Given the description of an element on the screen output the (x, y) to click on. 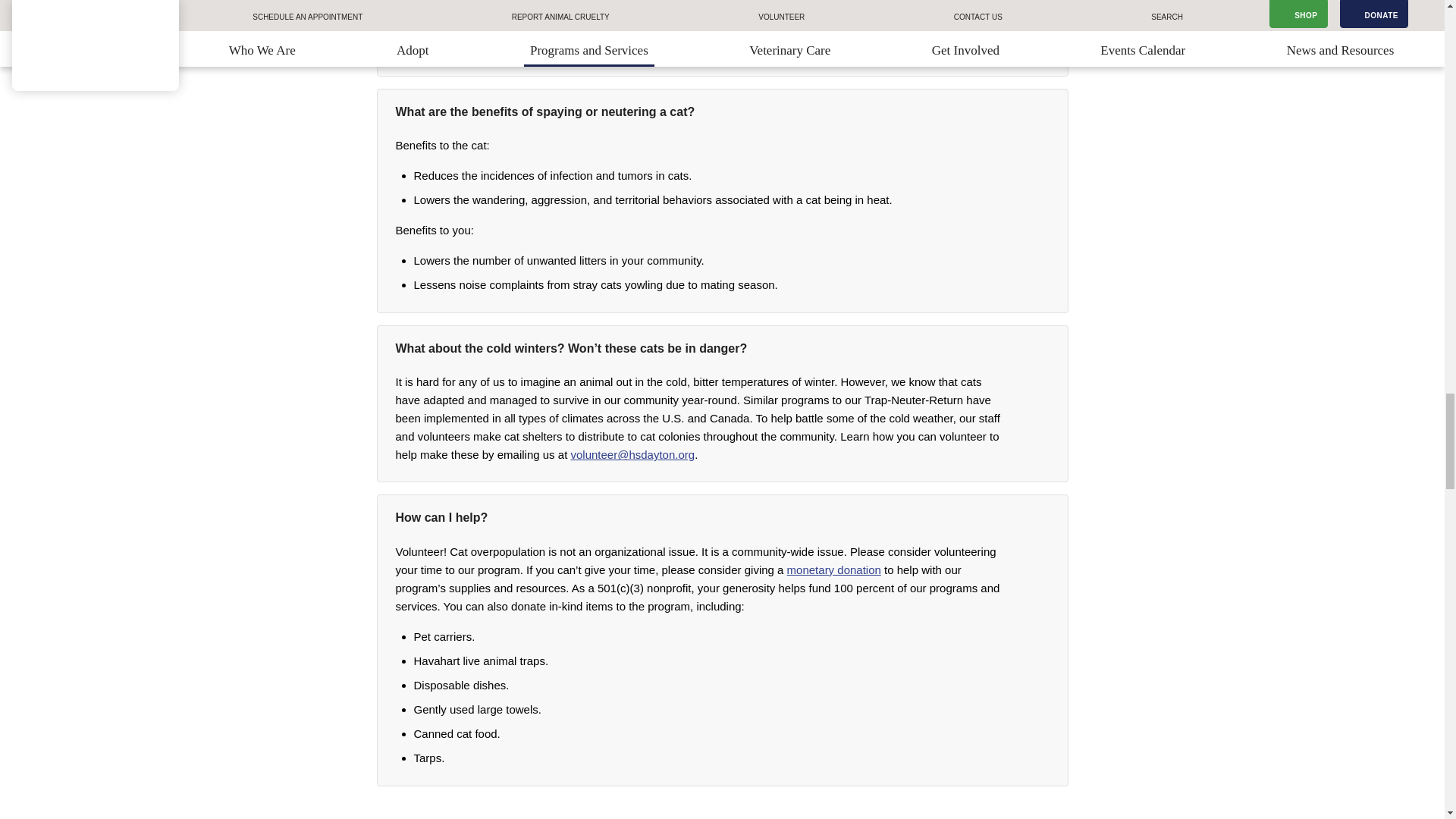
monetary donation (833, 568)
